Given the description of an element on the screen output the (x, y) to click on. 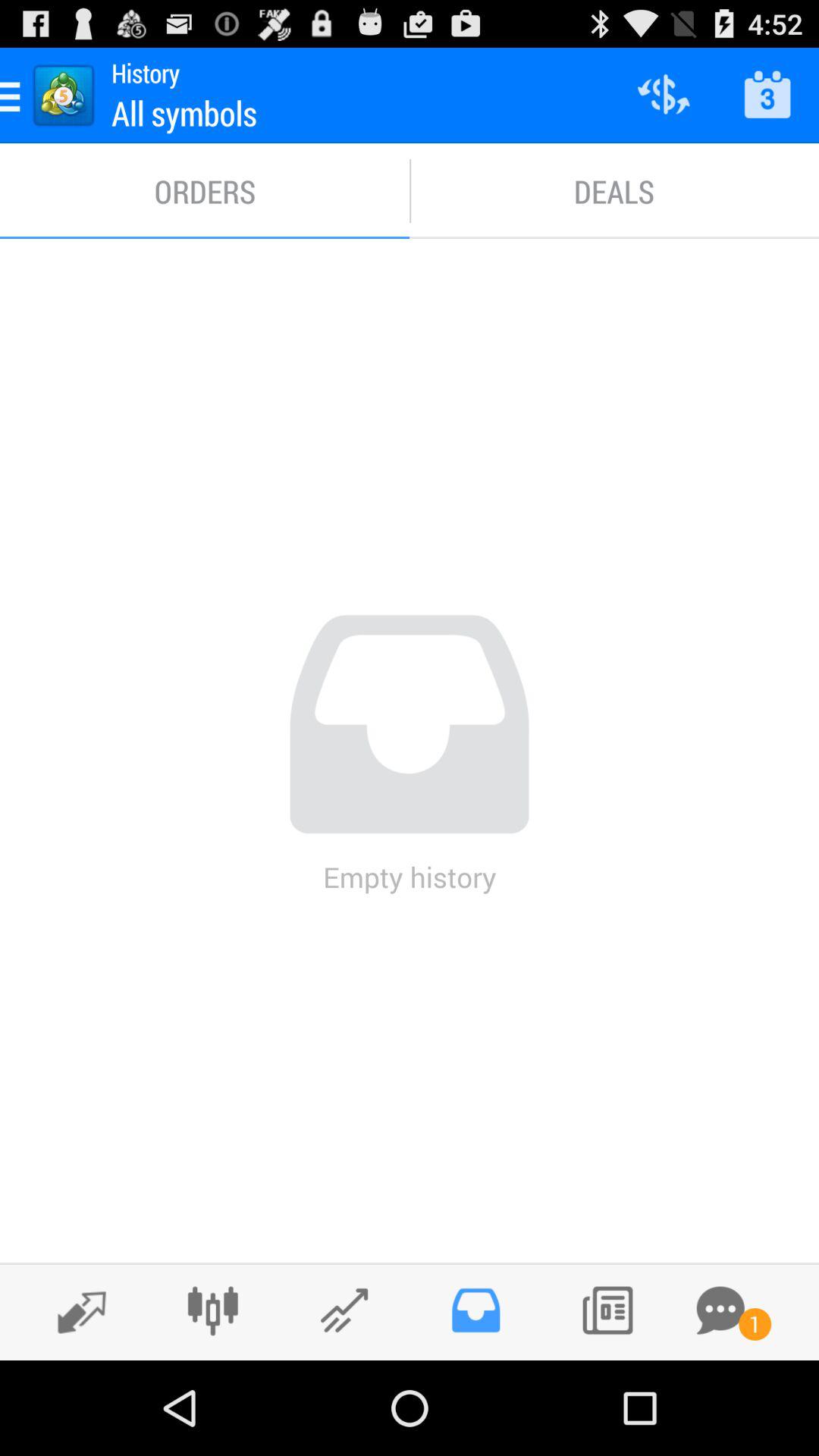
tap item next to the orders icon (614, 190)
